Given the description of an element on the screen output the (x, y) to click on. 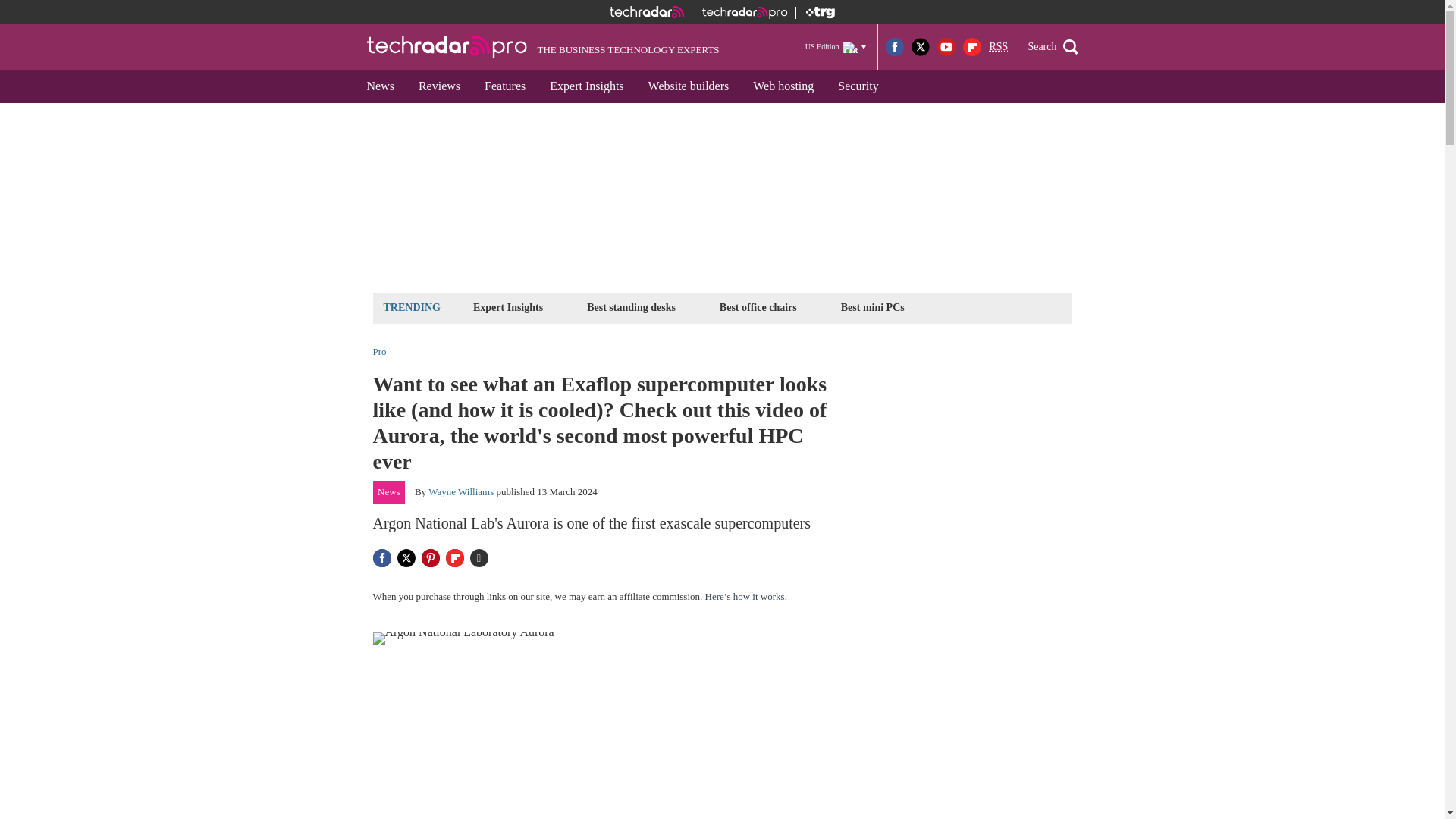
Features (504, 86)
RSS (997, 46)
Security (857, 86)
News (380, 86)
Best office chairs (758, 307)
Best standing desks (630, 307)
Website builders (688, 86)
THE BUSINESS TECHNOLOGY EXPERTS (542, 46)
Web hosting (783, 86)
Expert Insights (585, 86)
